Given the description of an element on the screen output the (x, y) to click on. 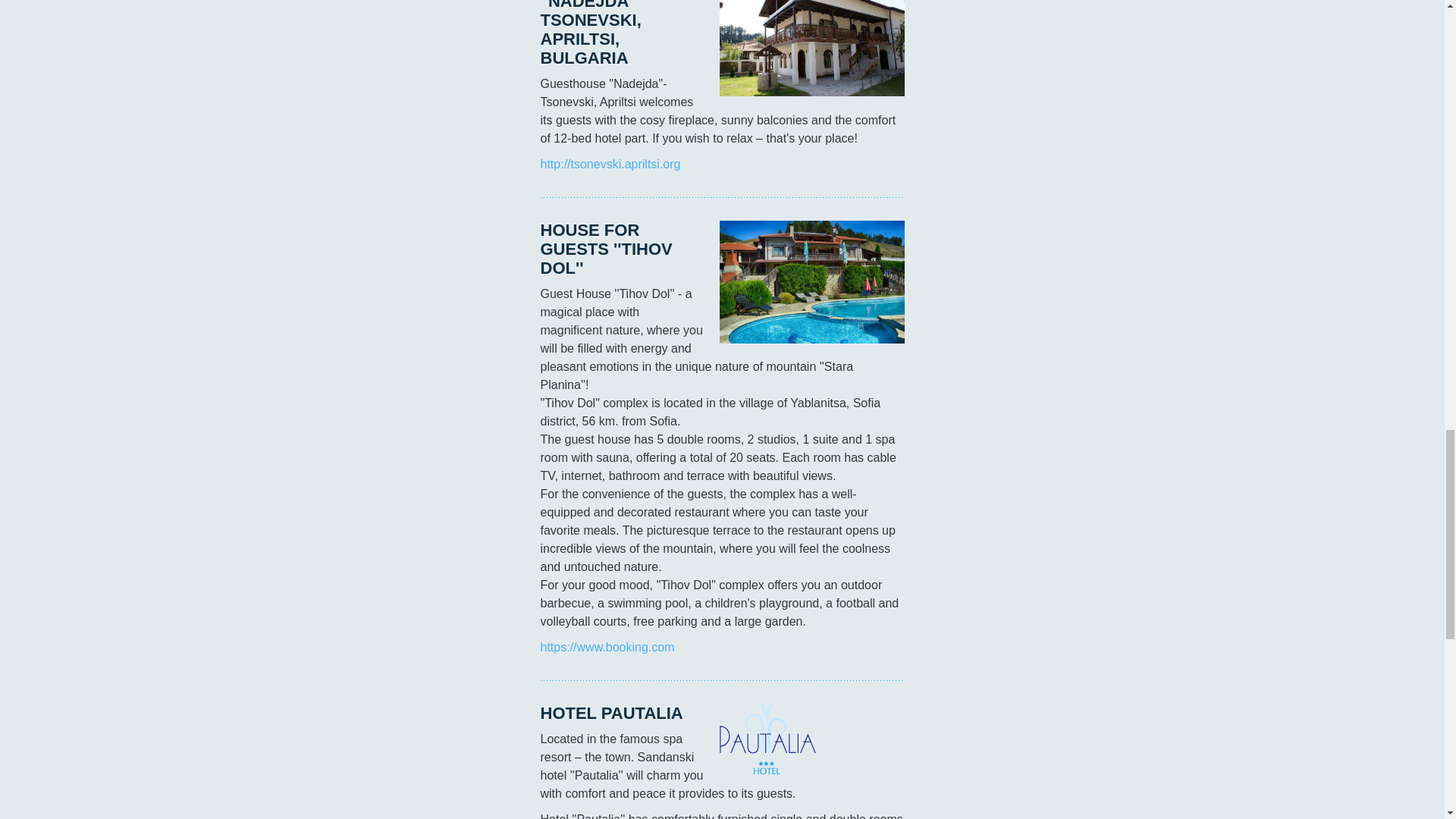
Hotel Pautalia (767, 738)
HOUSE FOR GUESTS ''TIHOV DOL'' (811, 281)
Guesthouse  (811, 48)
